Given the description of an element on the screen output the (x, y) to click on. 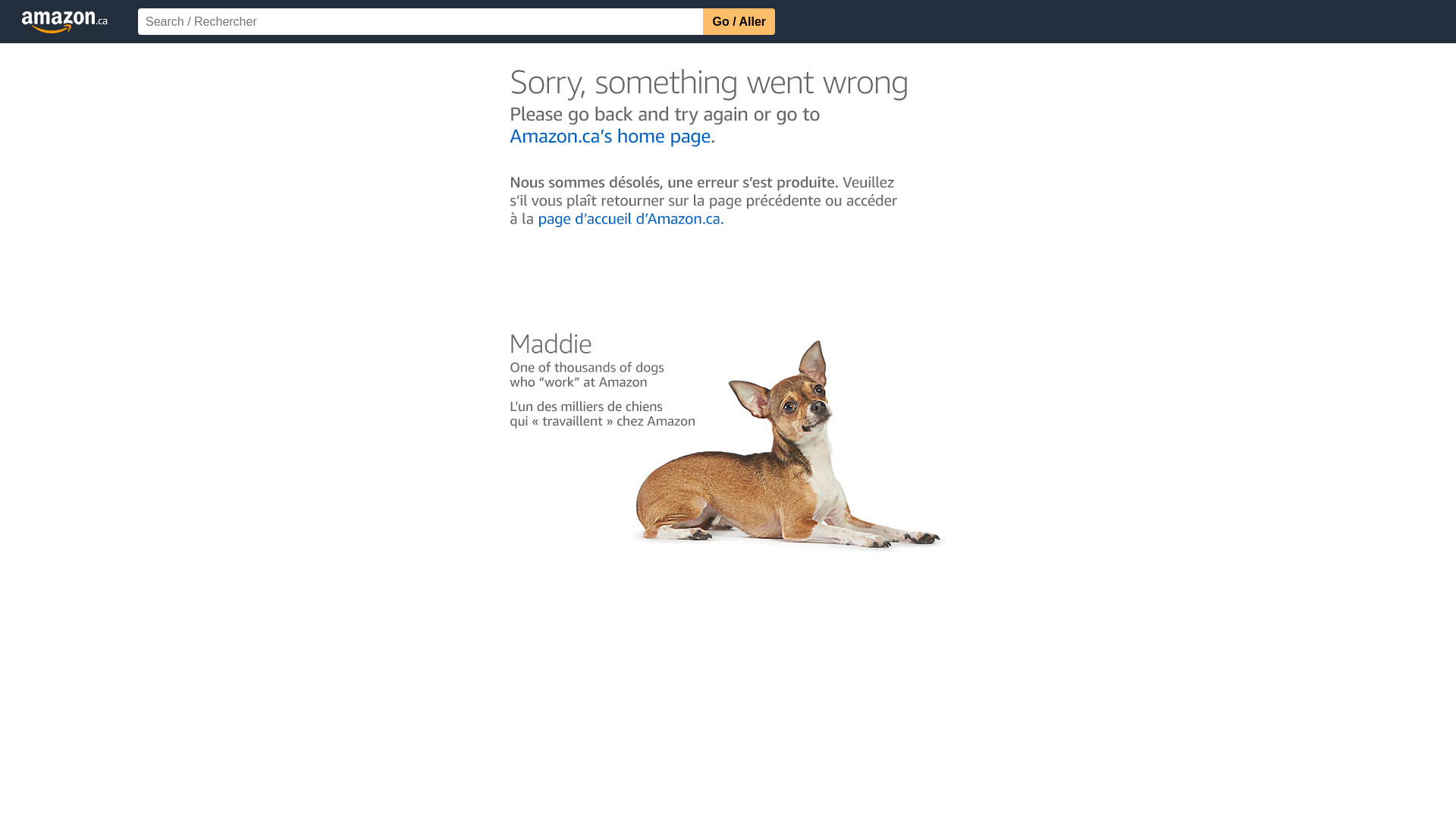
Go / Aller Element type: text (738, 21)
